Given the description of an element on the screen output the (x, y) to click on. 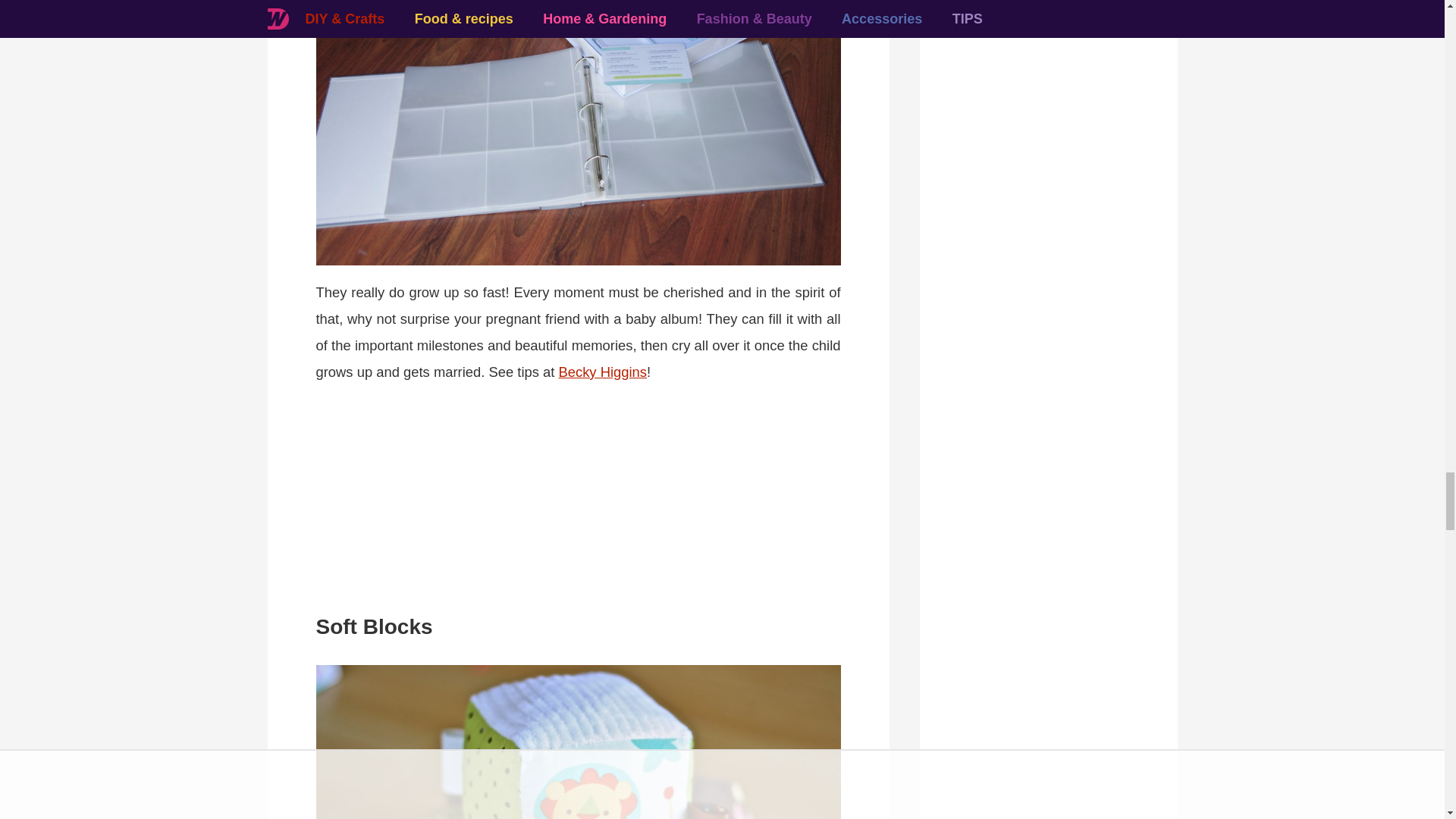
Becky Higgins (601, 371)
